Given the description of an element on the screen output the (x, y) to click on. 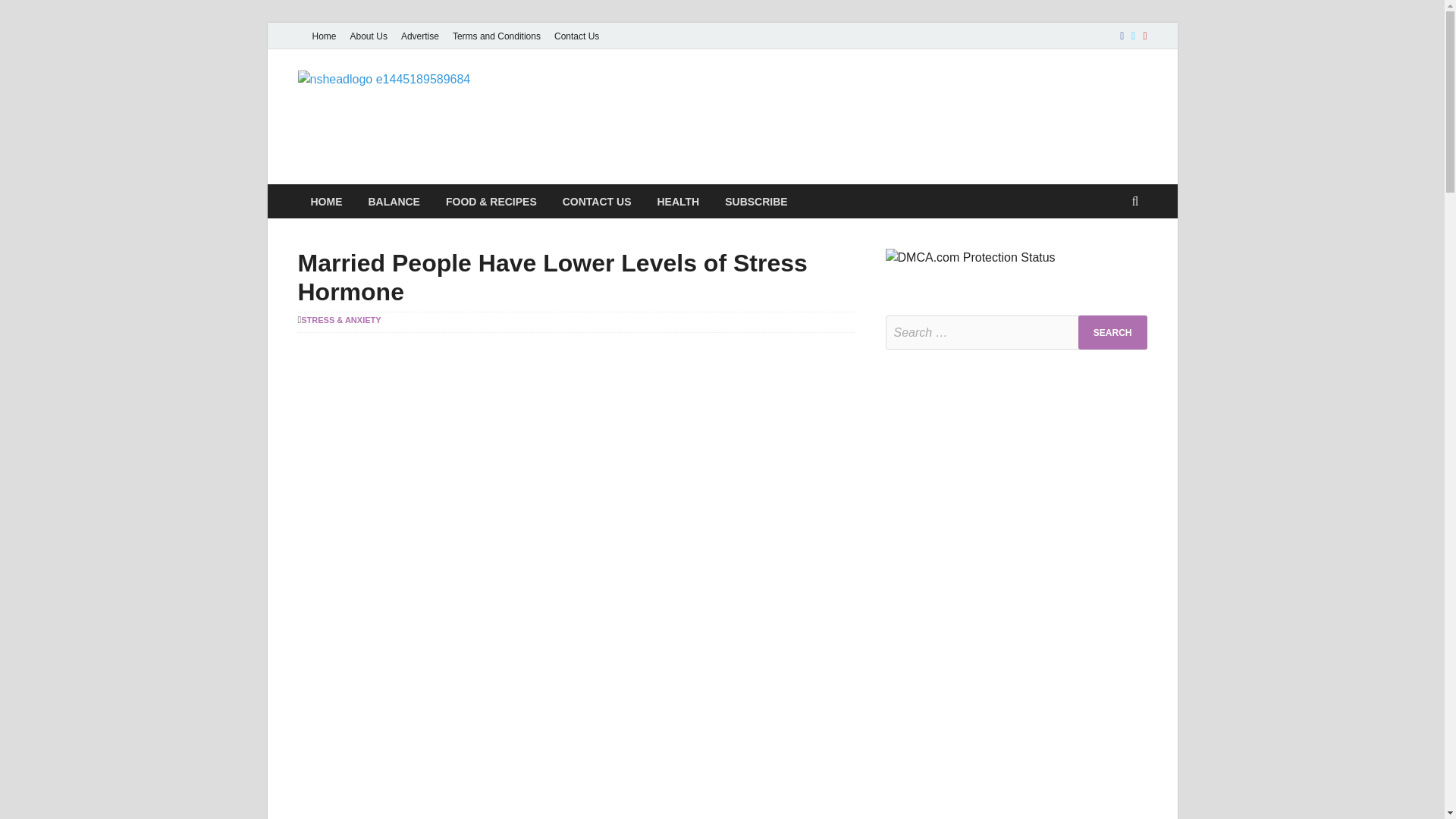
Advertise (419, 35)
Home (323, 35)
HEALTH (677, 201)
SUBSCRIBE (755, 201)
BALANCE (393, 201)
About Us (368, 35)
CONTACT US (597, 201)
DMCA.com Protection Status (970, 256)
HOME (326, 201)
Search (1112, 332)
Contact Us (576, 35)
Search (1112, 332)
Terms and Conditions (496, 35)
